Given the description of an element on the screen output the (x, y) to click on. 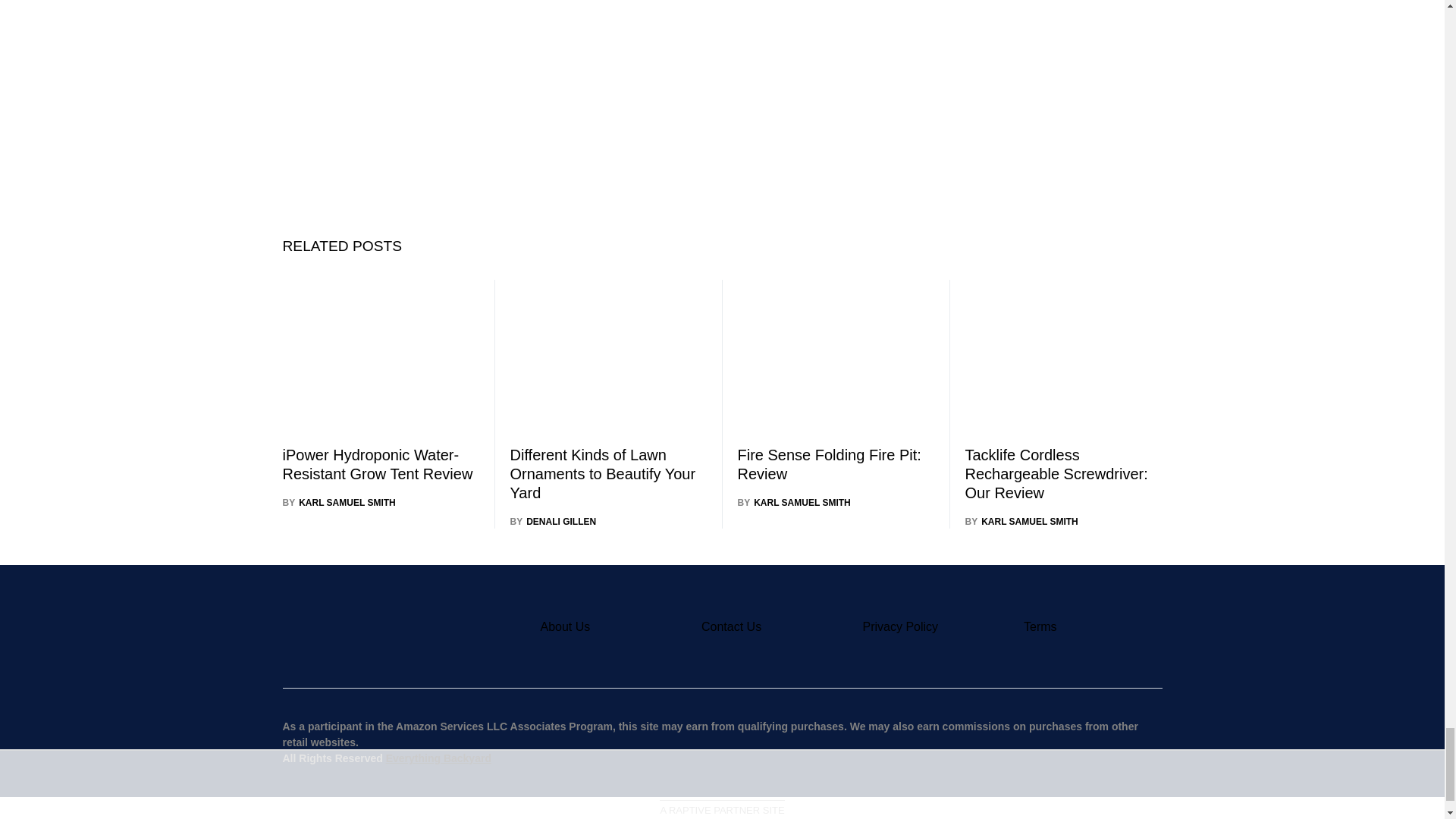
View all posts by Karl Samuel Smith (793, 502)
View all posts by Karl Samuel Smith (338, 502)
View all posts by Denali Gillen (552, 521)
View all posts by Karl Samuel Smith (1020, 521)
